Given the description of an element on the screen output the (x, y) to click on. 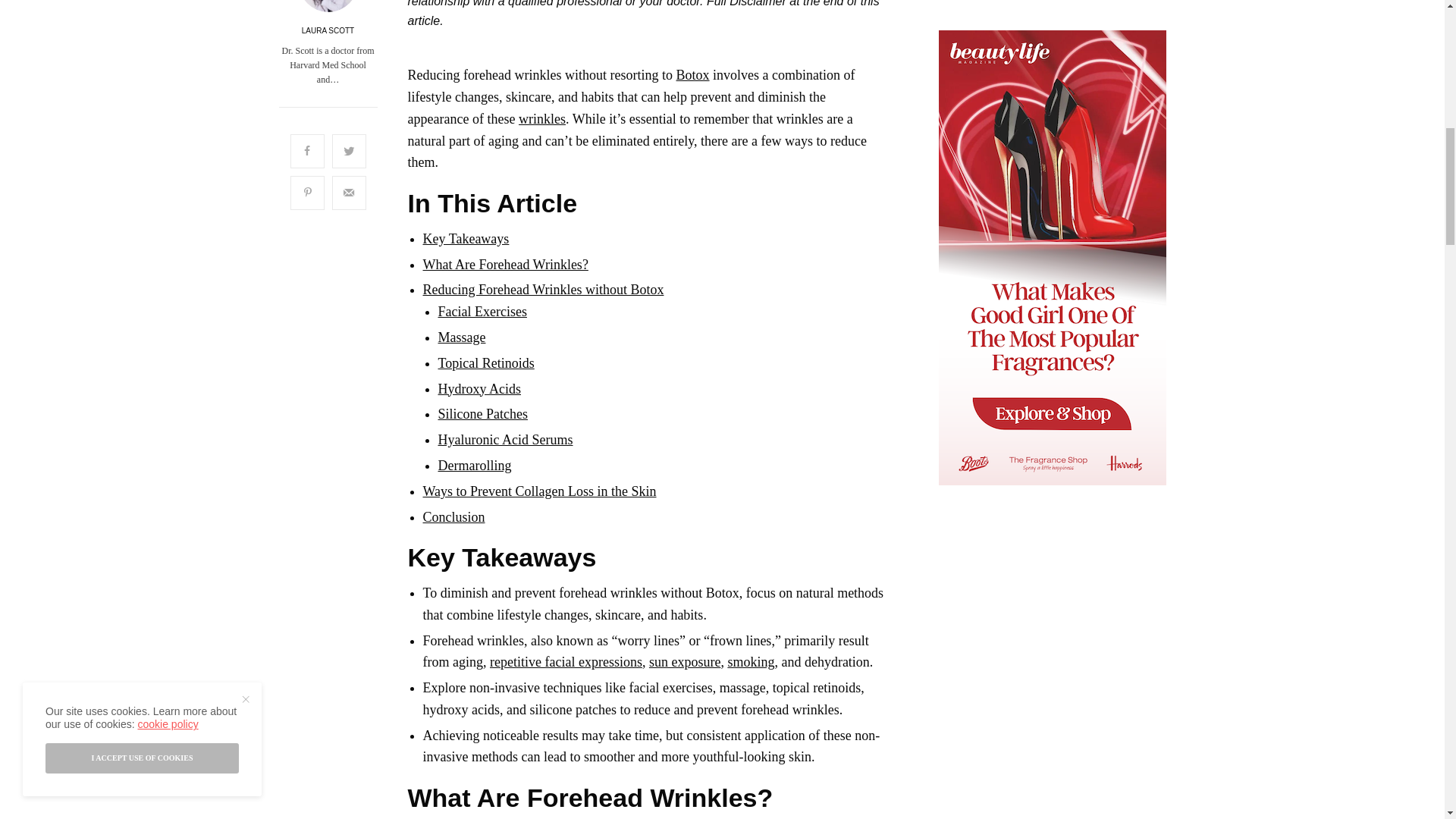
Reducing Forehead Wrinkles without Botox (543, 289)
wrinkles (542, 118)
Hydroxy Acids (479, 388)
LAURA SCOTT (328, 31)
Facial Exercises (482, 311)
wrinkles (542, 118)
Botox (693, 74)
Topical Retinoids (486, 363)
Botox (693, 74)
Key Takeaways (466, 238)
Massage (462, 337)
repetitive facial expressions (565, 661)
What Are Forehead Wrinkles? (505, 264)
smoking (750, 661)
sun exposure (684, 661)
